Given the description of an element on the screen output the (x, y) to click on. 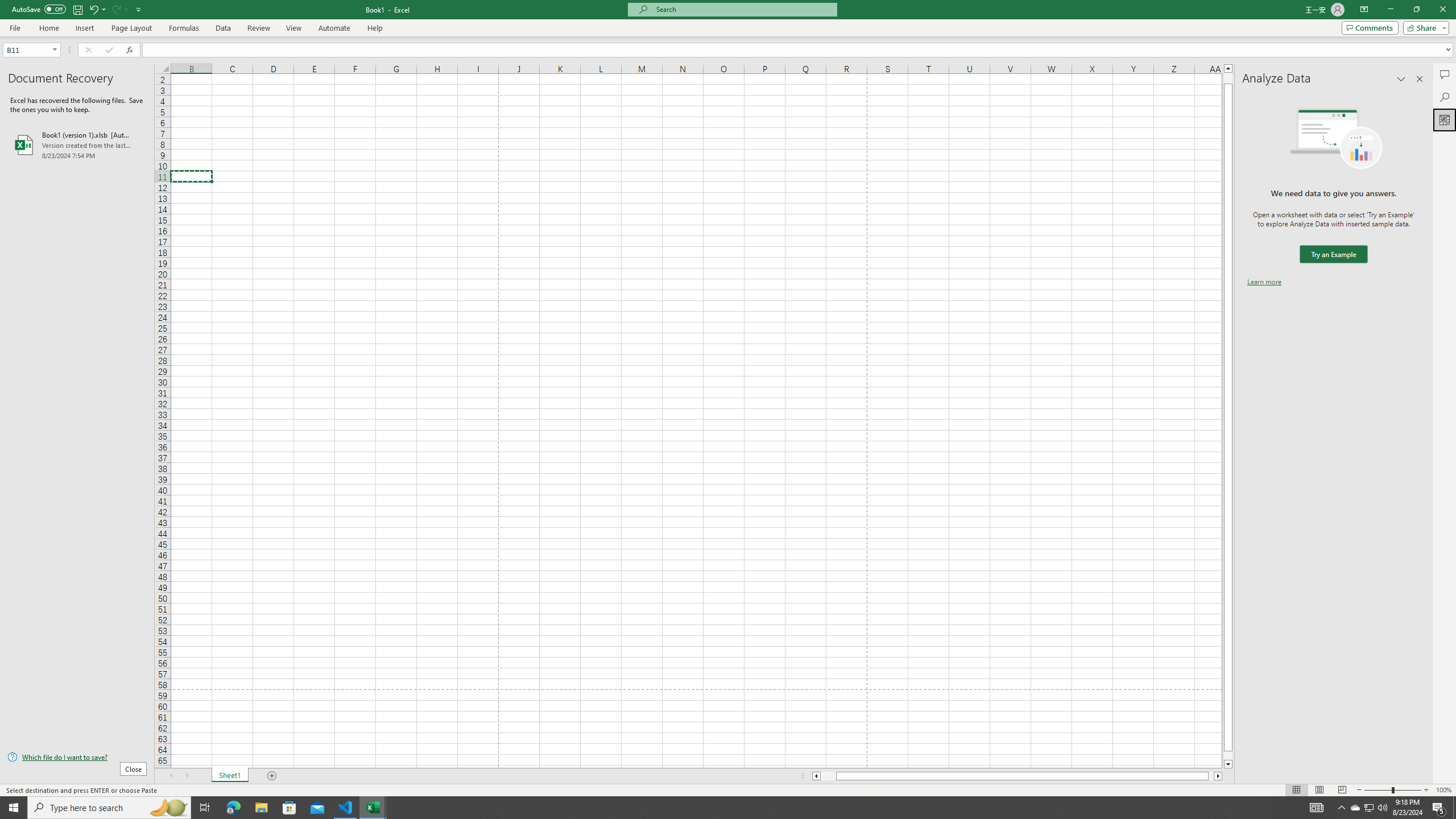
Formula Bar (799, 49)
Microsoft search (742, 9)
Close pane (1419, 78)
